Given the description of an element on the screen output the (x, y) to click on. 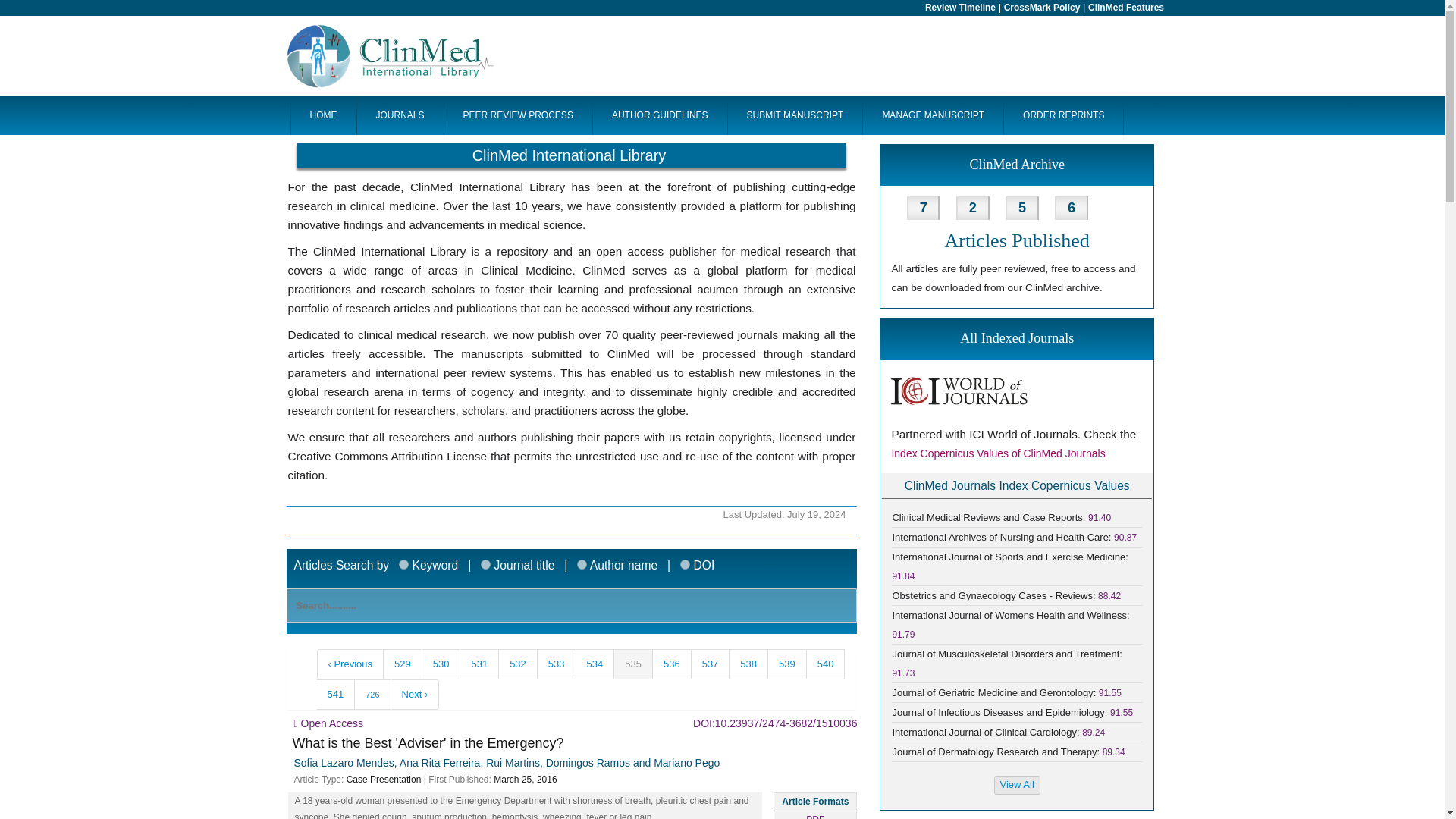
AUTHOR GUIDELINES (659, 115)
What is the Best 'Adviser' in the Emergency? (428, 743)
726 (372, 694)
536 (671, 664)
530 (441, 664)
JOURNALS (400, 115)
533 (556, 664)
on (684, 564)
on (403, 564)
on (485, 564)
HOME (322, 115)
529 (403, 664)
ClinMed Features (1125, 7)
541 (336, 694)
538 (748, 664)
